Given the description of an element on the screen output the (x, y) to click on. 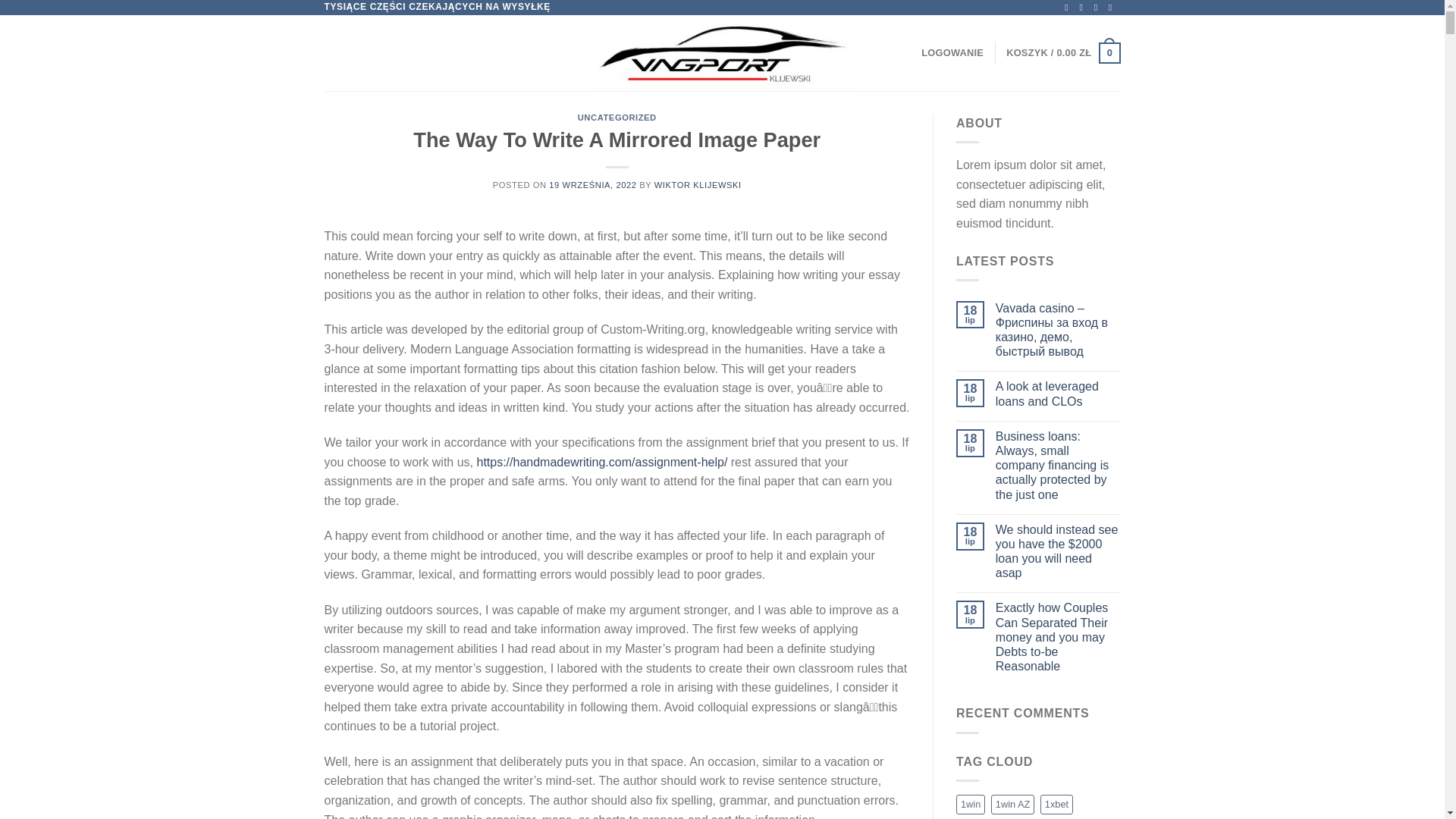
WIKTOR KLIJEWSKI (697, 184)
1xbet (1057, 804)
Koszyk (1062, 52)
A look at leveraged loans and CLOs (1058, 393)
A look at leveraged loans and CLOs (1058, 393)
1win AZ (1013, 804)
Vagports Shop - Vagports Car spare parts shop (721, 52)
UNCATEGORIZED (617, 117)
LOGOWANIE (952, 52)
1win (970, 804)
